Given the description of an element on the screen output the (x, y) to click on. 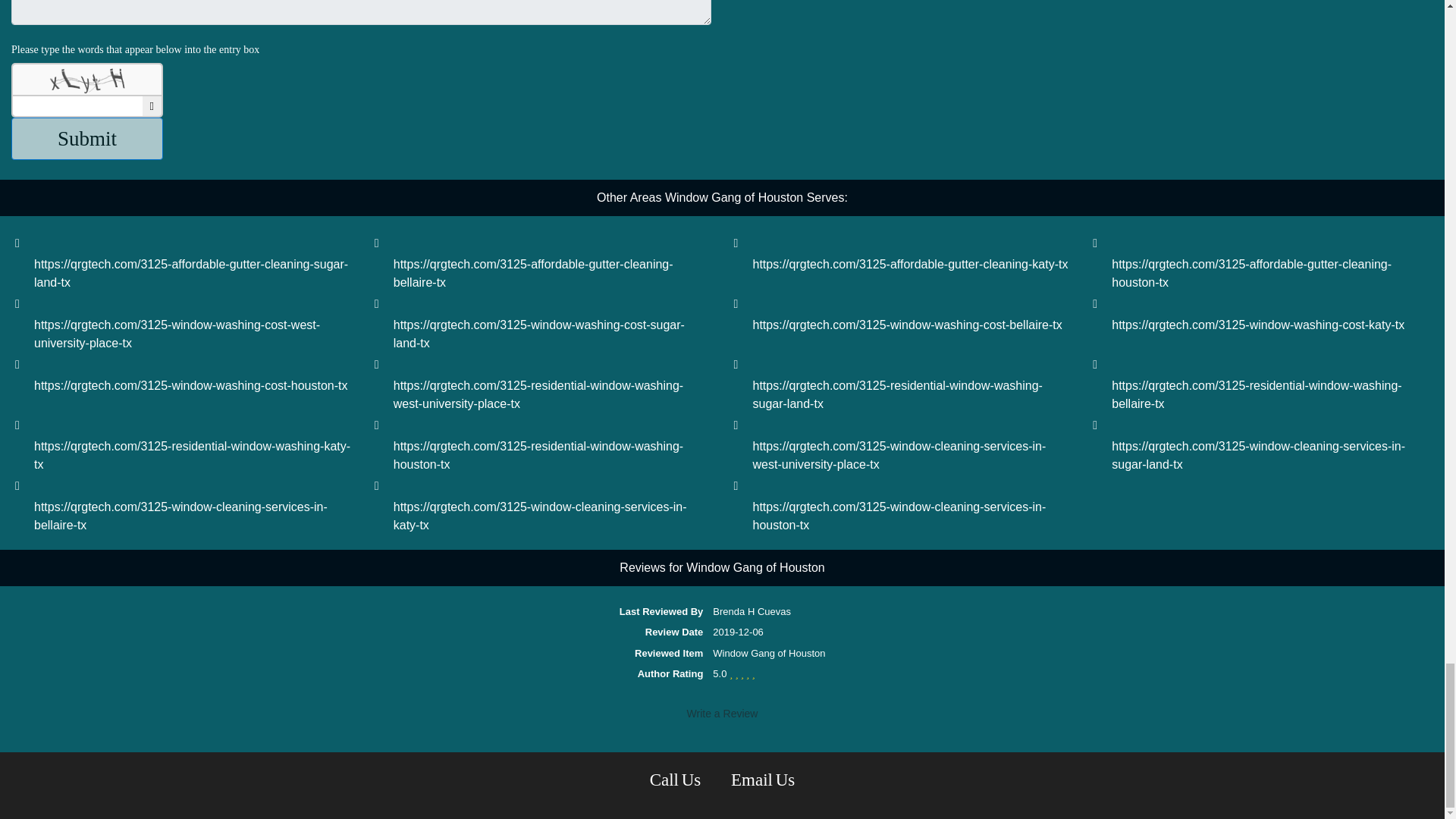
Submit (87, 138)
Write a Review (722, 713)
